Given the description of an element on the screen output the (x, y) to click on. 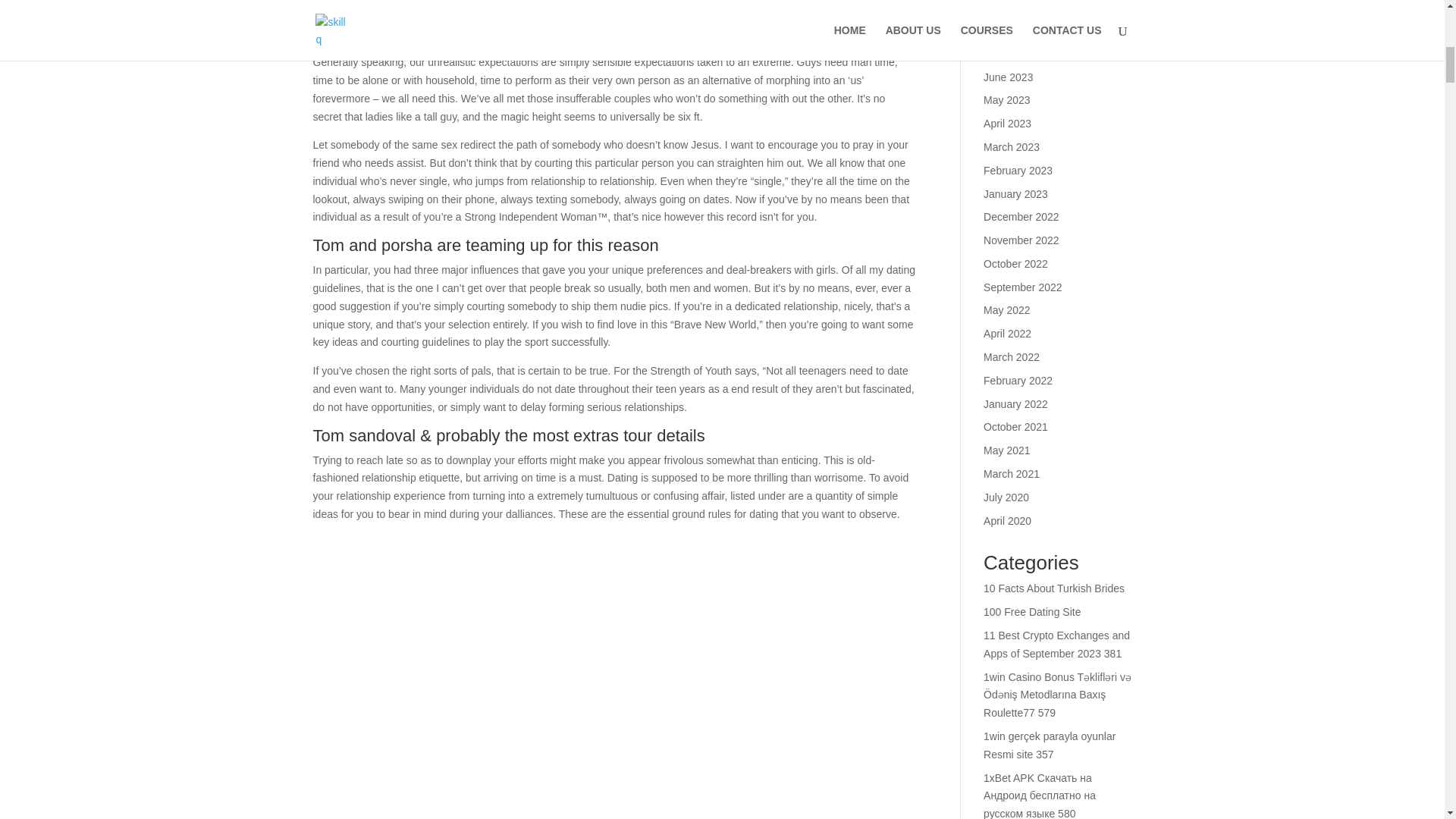
October 2022 (1016, 263)
April 2023 (1007, 123)
July 2023 (1006, 53)
January 2023 (1016, 193)
November 2022 (1021, 240)
September 2023 (1023, 6)
March 2023 (1011, 146)
February 2023 (1018, 170)
December 2022 (1021, 216)
August 2023 (1013, 30)
